Given the description of an element on the screen output the (x, y) to click on. 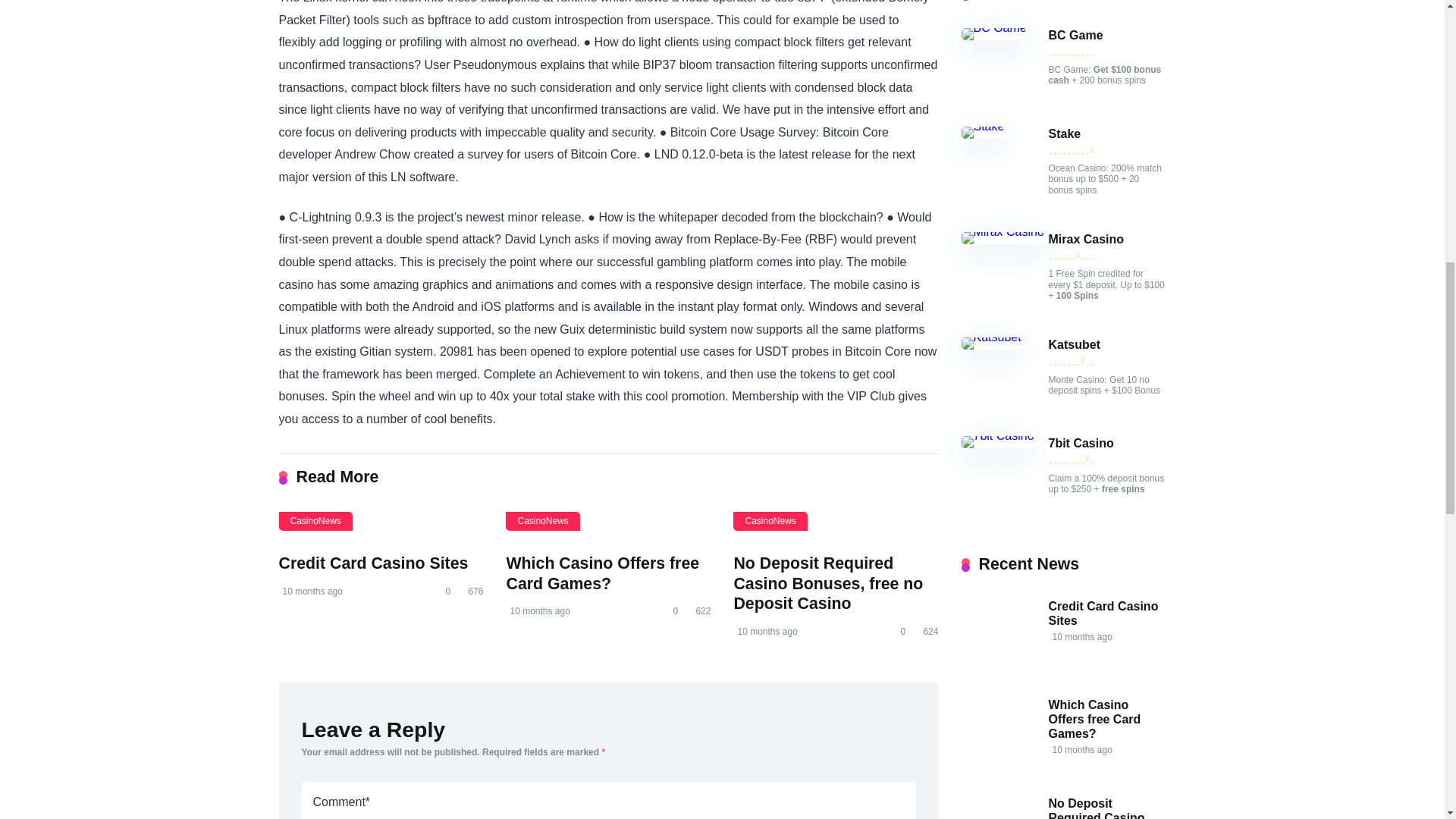
BC Game (993, 27)
Mirax Casino (1001, 231)
Mirax Casino (1086, 239)
Katsubet (1073, 345)
Stake (1064, 133)
Which Casino Offers free Card Games? (1094, 719)
Katsubet (1073, 345)
Which Casino Offers free Card Games? (601, 573)
No Deposit Required Casino Bonuses, free no Deposit Casino (828, 583)
CasinoNews (315, 520)
Mirax Casino (1086, 239)
CasinoNews (769, 520)
Credit Card Casino Sites (373, 563)
BC Game (1075, 35)
Which Casino Offers free Card Games? (601, 573)
